Given the description of an element on the screen output the (x, y) to click on. 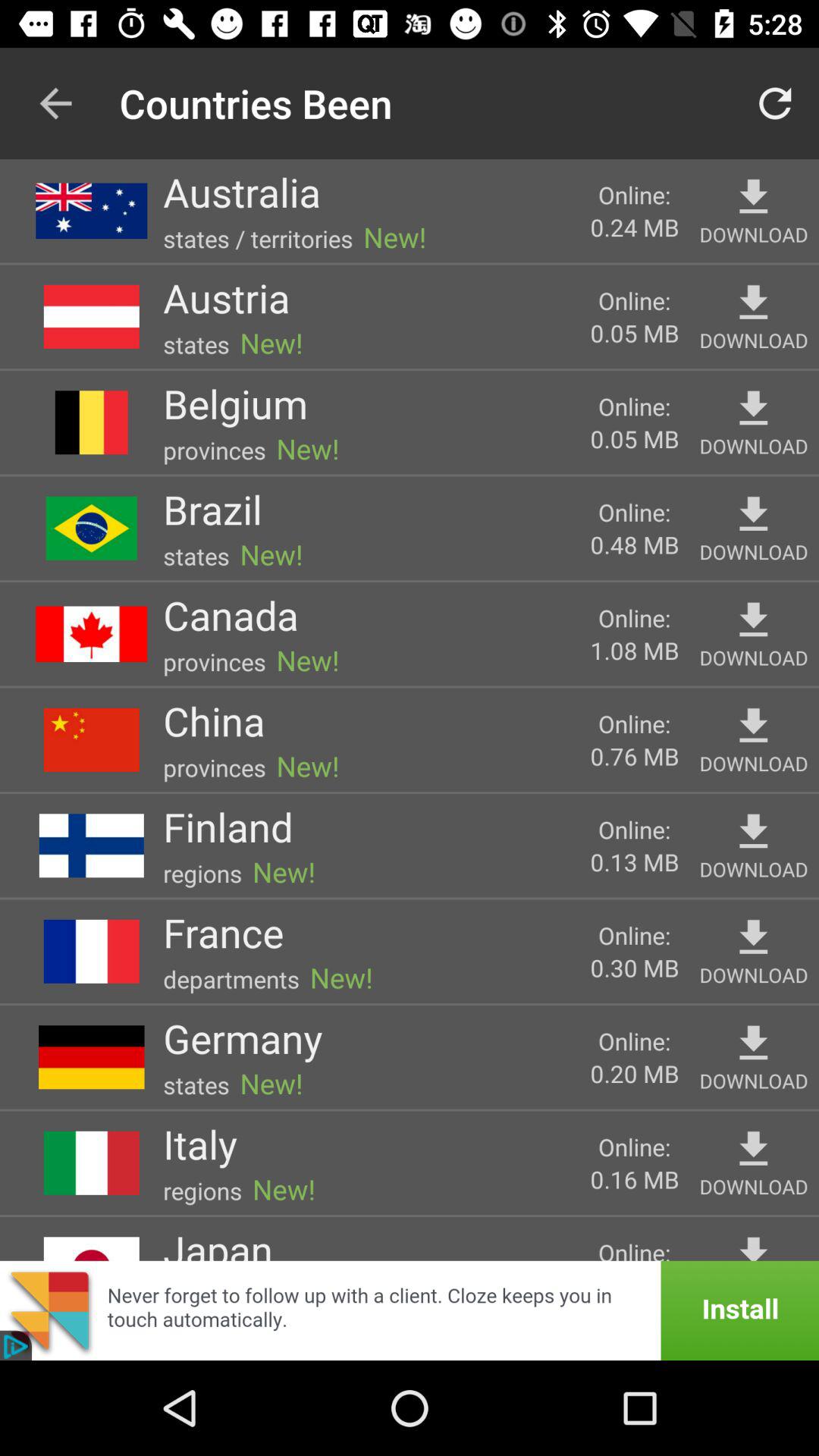
turn off the icon above the new! item (242, 1037)
